Given the description of an element on the screen output the (x, y) to click on. 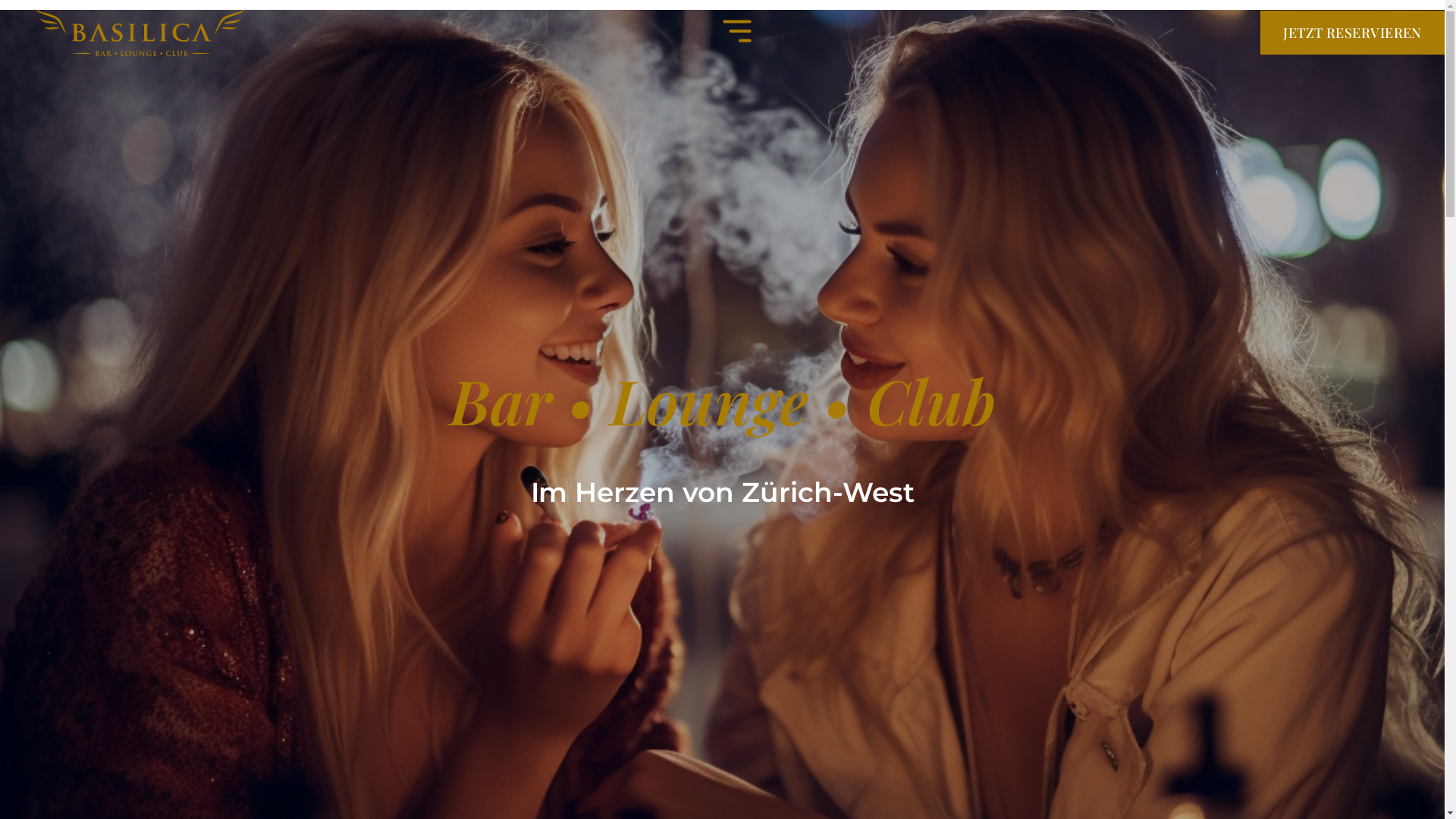
JETZT RESERVIEREN Element type: text (1352, 32)
